Given the description of an element on the screen output the (x, y) to click on. 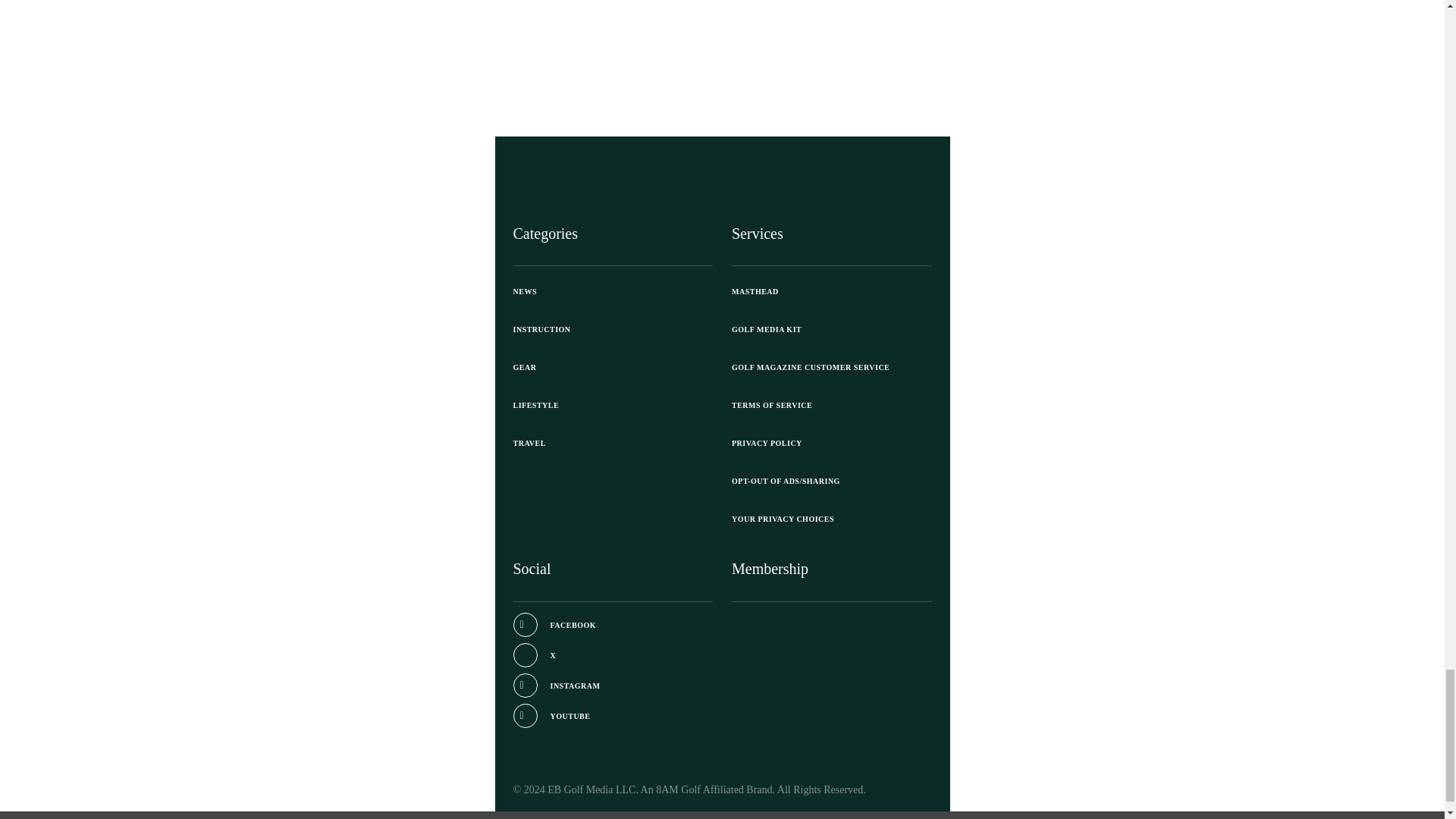
INSTRUCTION (612, 329)
GEAR (612, 367)
INSTAGRAM (555, 685)
GOLF MAGAZINE CUSTOMER SERVICE (831, 367)
MASTHEAD (831, 291)
NEWS (612, 291)
X (534, 655)
GOLF MEDIA KIT (831, 329)
TRAVEL (612, 443)
LIFESTYLE (612, 405)
TERMS OF SERVICE (831, 405)
YOUR PRIVACY CHOICES (831, 518)
YOUTUBE (550, 715)
FACEBOOK (553, 624)
PRIVACY POLICY (831, 443)
